Given the description of an element on the screen output the (x, y) to click on. 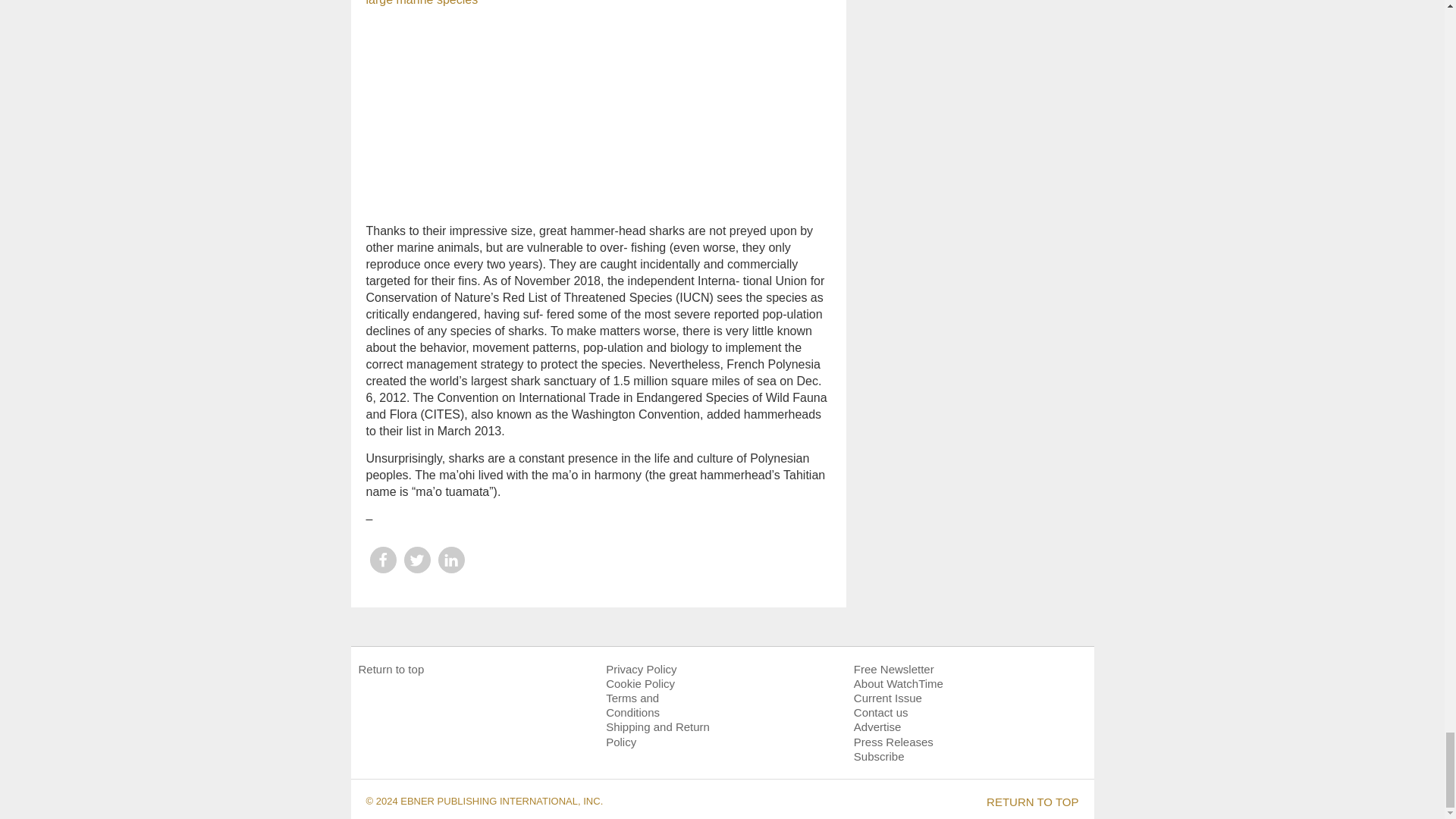
Share on Twitter (416, 560)
Share on Facebook (382, 560)
Share on LinkedIn (451, 560)
